Given the description of an element on the screen output the (x, y) to click on. 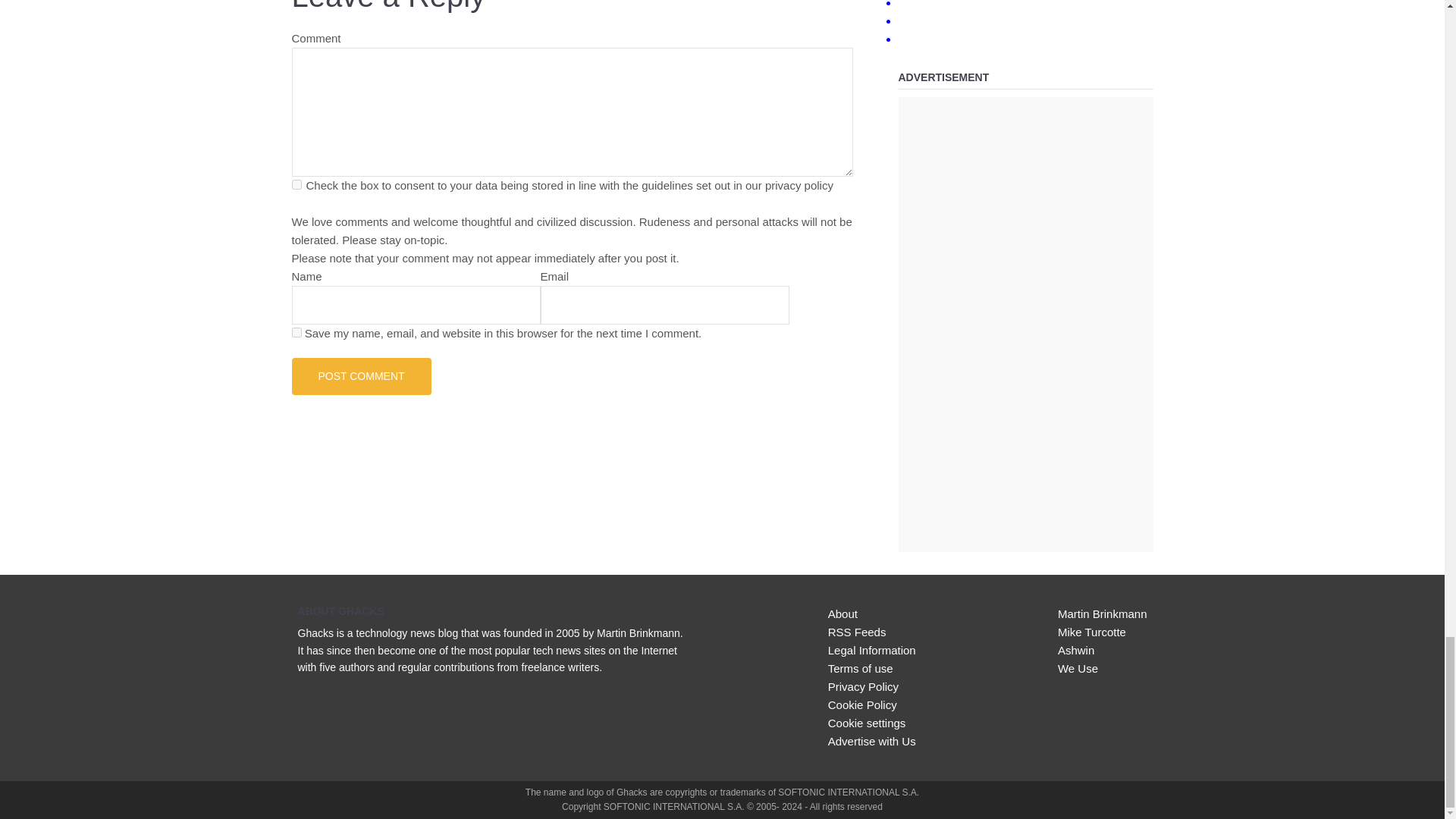
Post Comment (360, 375)
privacy-key (296, 184)
yes (296, 332)
